Given the description of an element on the screen output the (x, y) to click on. 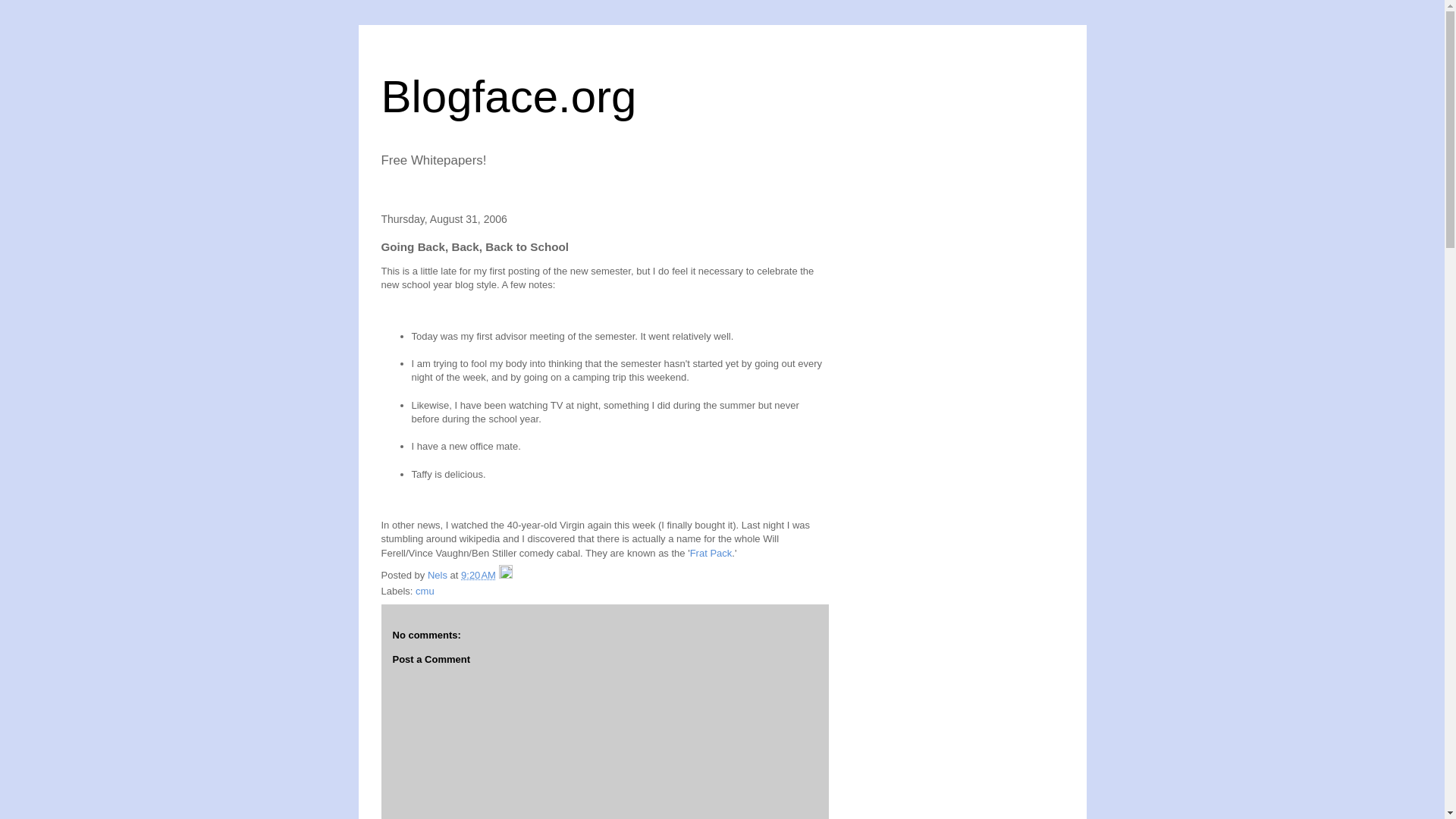
Edit Post (505, 574)
cmu (423, 591)
permanent link (478, 574)
Frat Pack (711, 552)
Nels (438, 574)
Blogface.org (508, 96)
author profile (438, 574)
